Given the description of an element on the screen output the (x, y) to click on. 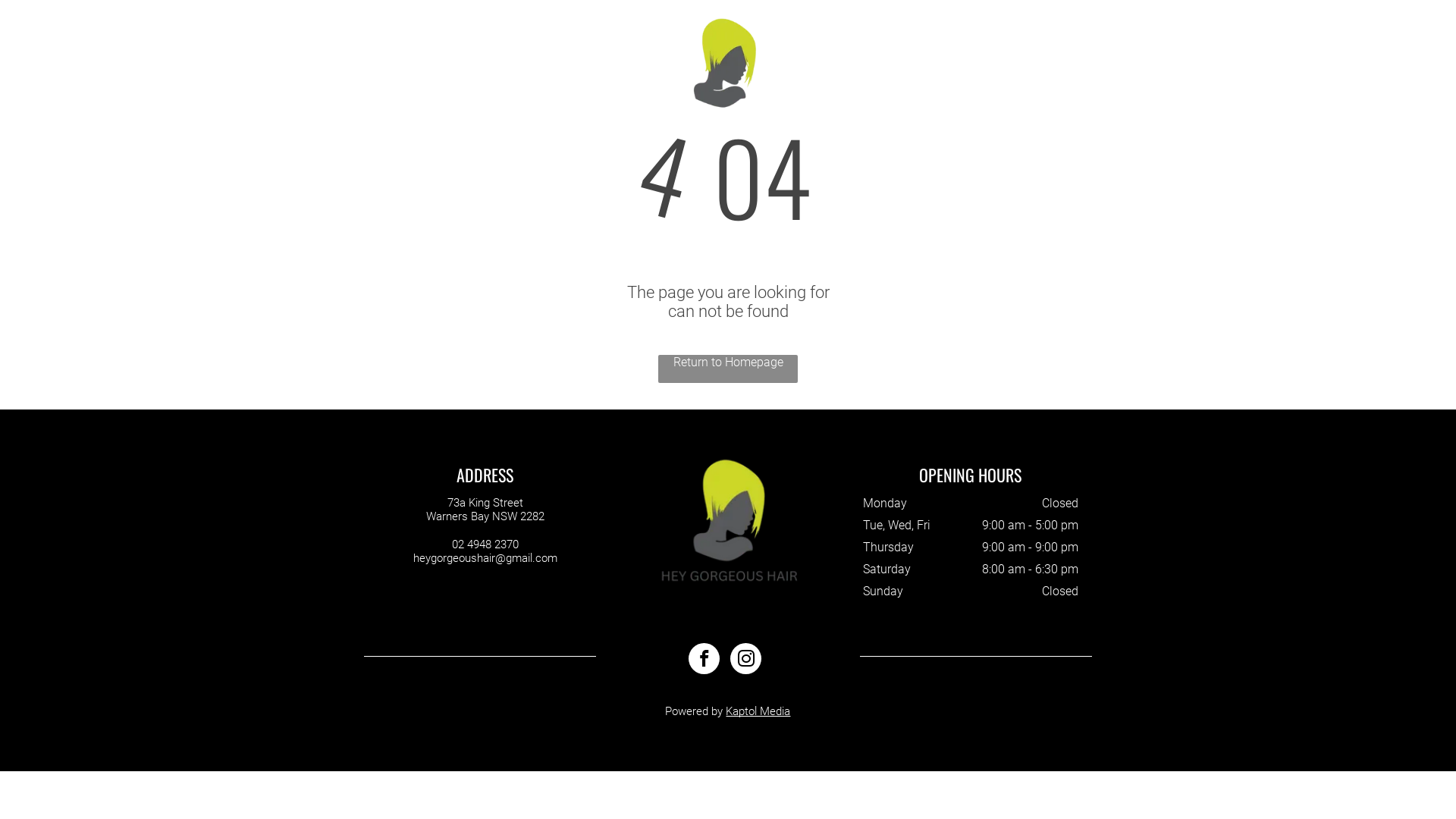
02 4948 2370 Element type: text (484, 544)
heygorgeoushair@gmail.com Element type: text (485, 557)
HOME Element type: text (582, 62)
CONTACT Element type: text (812, 62)
4948 2370 Element type: text (1315, 58)
Kaptol Media Element type: text (757, 711)
Return to Homepage Element type: text (727, 368)
GALLERY Element type: text (641, 62)
